Given the description of an element on the screen output the (x, y) to click on. 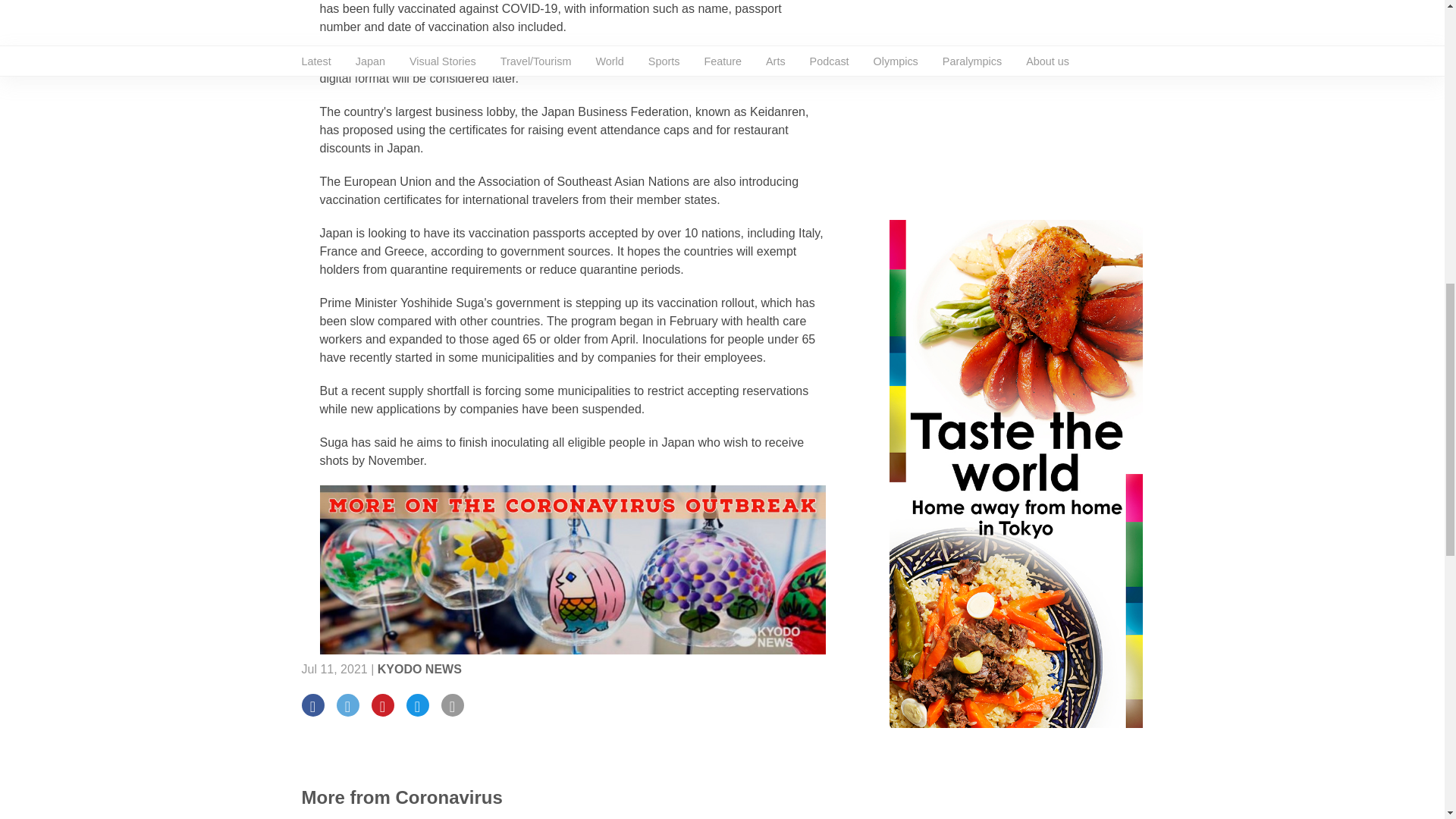
KYODO NEWS (419, 668)
Kyodo News Plus (572, 568)
